Given the description of an element on the screen output the (x, y) to click on. 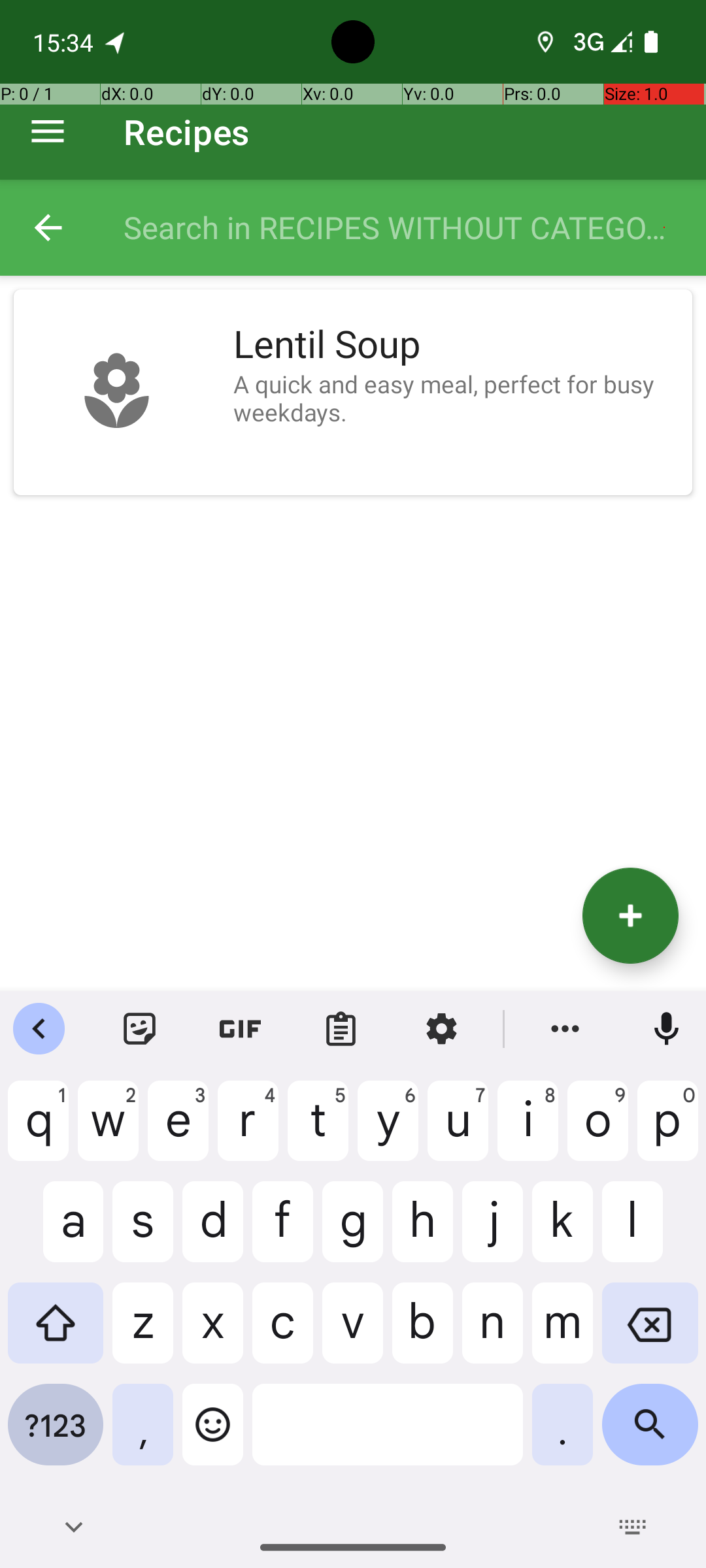
Collapse Element type: android.widget.ImageButton (48, 227)
Search in RECIPES WITHOUT CATEGORY Element type: android.widget.AutoCompleteTextView (400, 227)
